Given the description of an element on the screen output the (x, y) to click on. 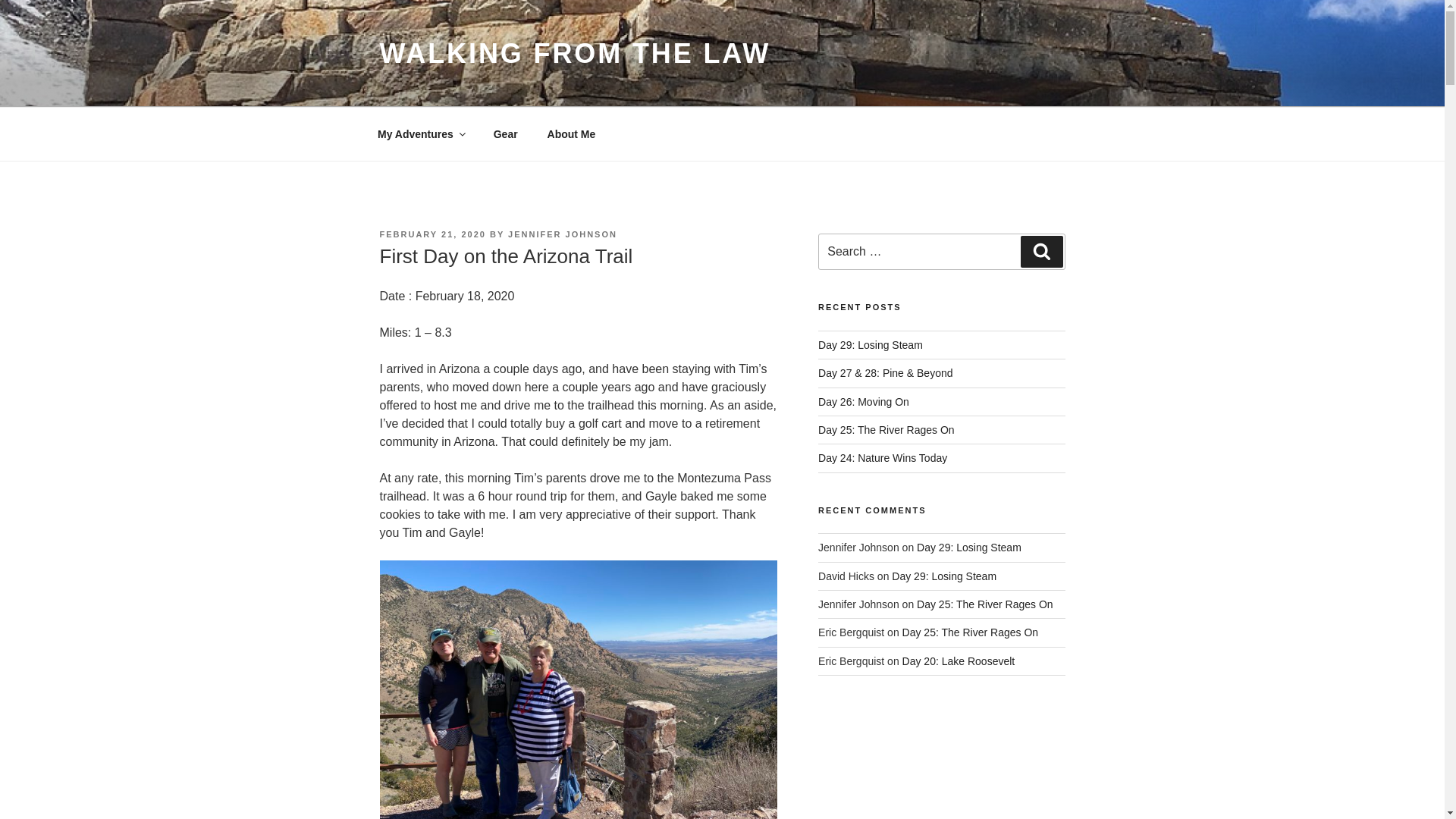
JENNIFER JOHNSON (562, 234)
Day 29: Losing Steam (943, 576)
FEBRUARY 21, 2020 (431, 234)
About Me (571, 133)
Day 29: Losing Steam (969, 547)
Search (1041, 251)
Gear (505, 133)
Day 24: Nature Wins Today (882, 458)
Day 26: Moving On (863, 401)
Day 29: Losing Steam (870, 345)
